Given the description of an element on the screen output the (x, y) to click on. 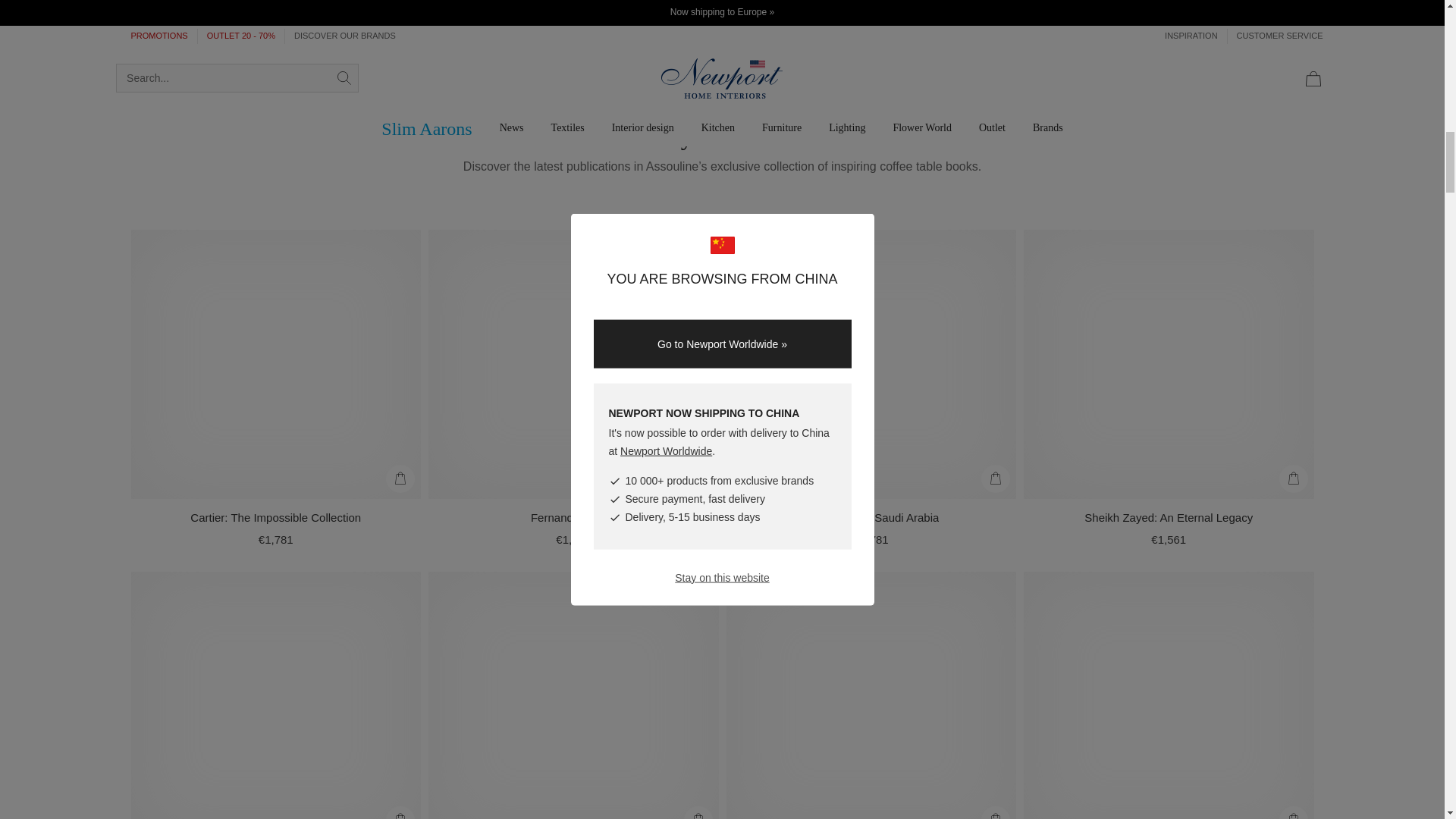
Camels From Saudi Arabia (871, 517)
Fernando Botero (573, 517)
Cartier: The Impossible Collection (275, 517)
Sheikh Zayed: An Eternal Legacy (1168, 517)
